Given the description of an element on the screen output the (x, y) to click on. 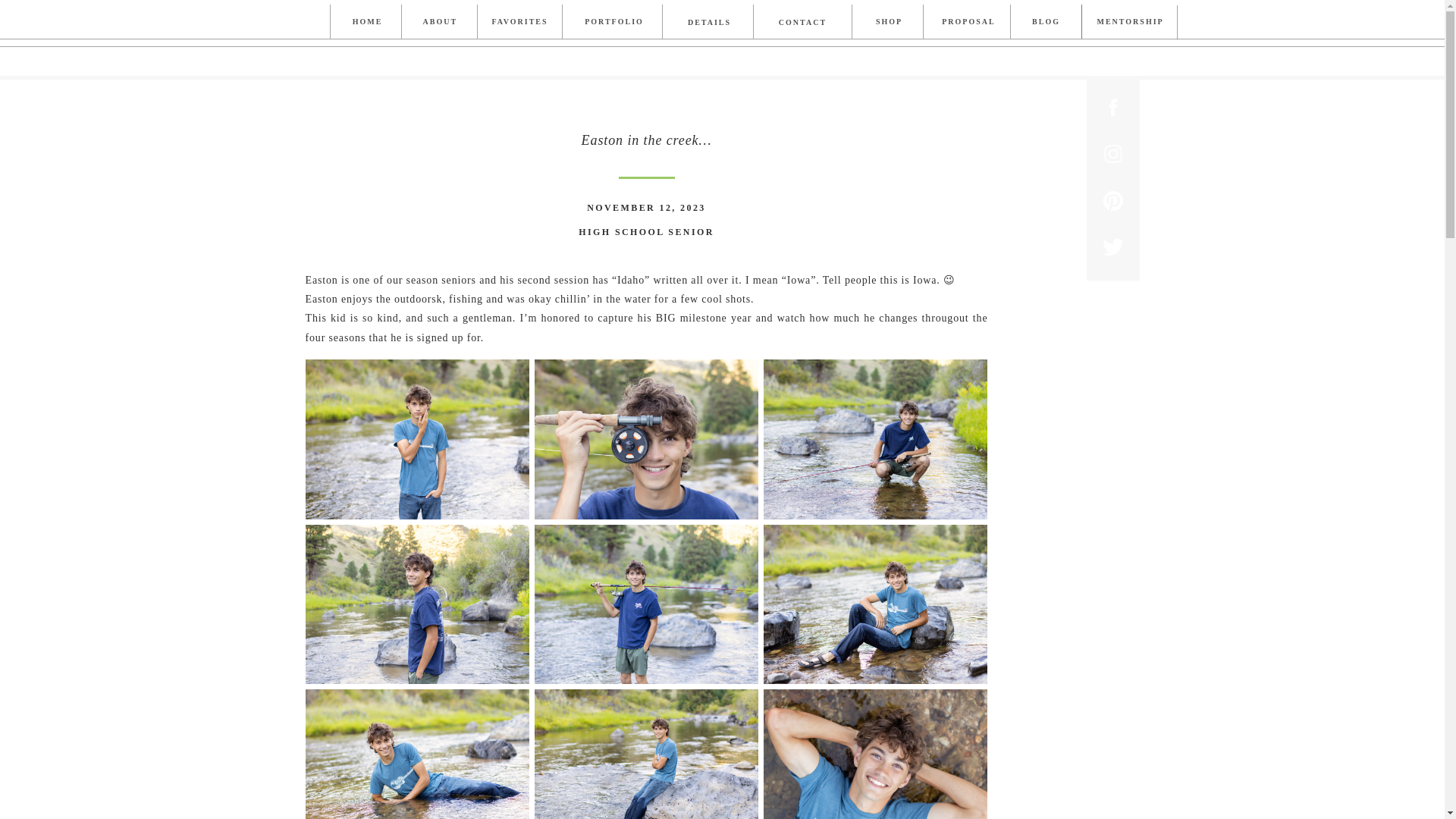
FAVORITES (518, 25)
MENTORSHIP (1126, 21)
BLOG (1045, 21)
HOME (368, 21)
CONTACT (801, 22)
SHOP (889, 21)
DETAILS (708, 23)
HIGH SCHOOL SENIOR (646, 231)
PROPOSAL (968, 21)
ABOUT (438, 21)
